Given the description of an element on the screen output the (x, y) to click on. 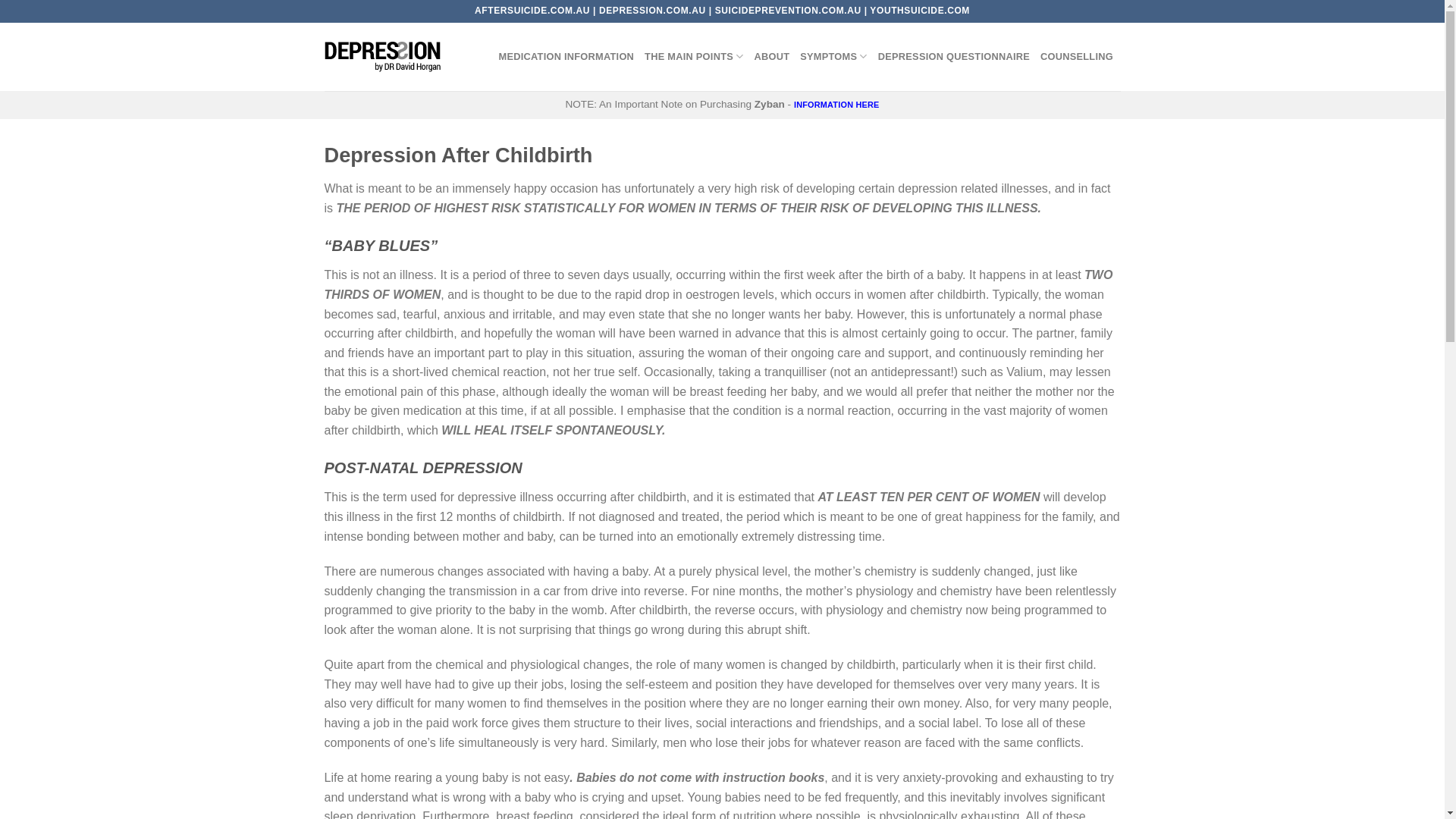
YOUTHSUICIDE.COM Element type: text (919, 10)
THE MAIN POINTS Element type: text (693, 56)
ABOUT Element type: text (771, 56)
DEPRESSION.COM.AU Element type: text (652, 10)
INFORMATION HERE Element type: text (836, 105)
COUNSELLING Element type: text (1076, 56)
AFTERSUICIDE.COM.AU Element type: text (531, 10)
MEDICATION INFORMATION Element type: text (566, 56)
SUICIDEPREVENTION.COM.AU Element type: text (788, 10)
SYMPTOMS Element type: text (833, 56)
DEPRESSION QUESTIONNAIRE Element type: text (953, 56)
